Given the description of an element on the screen output the (x, y) to click on. 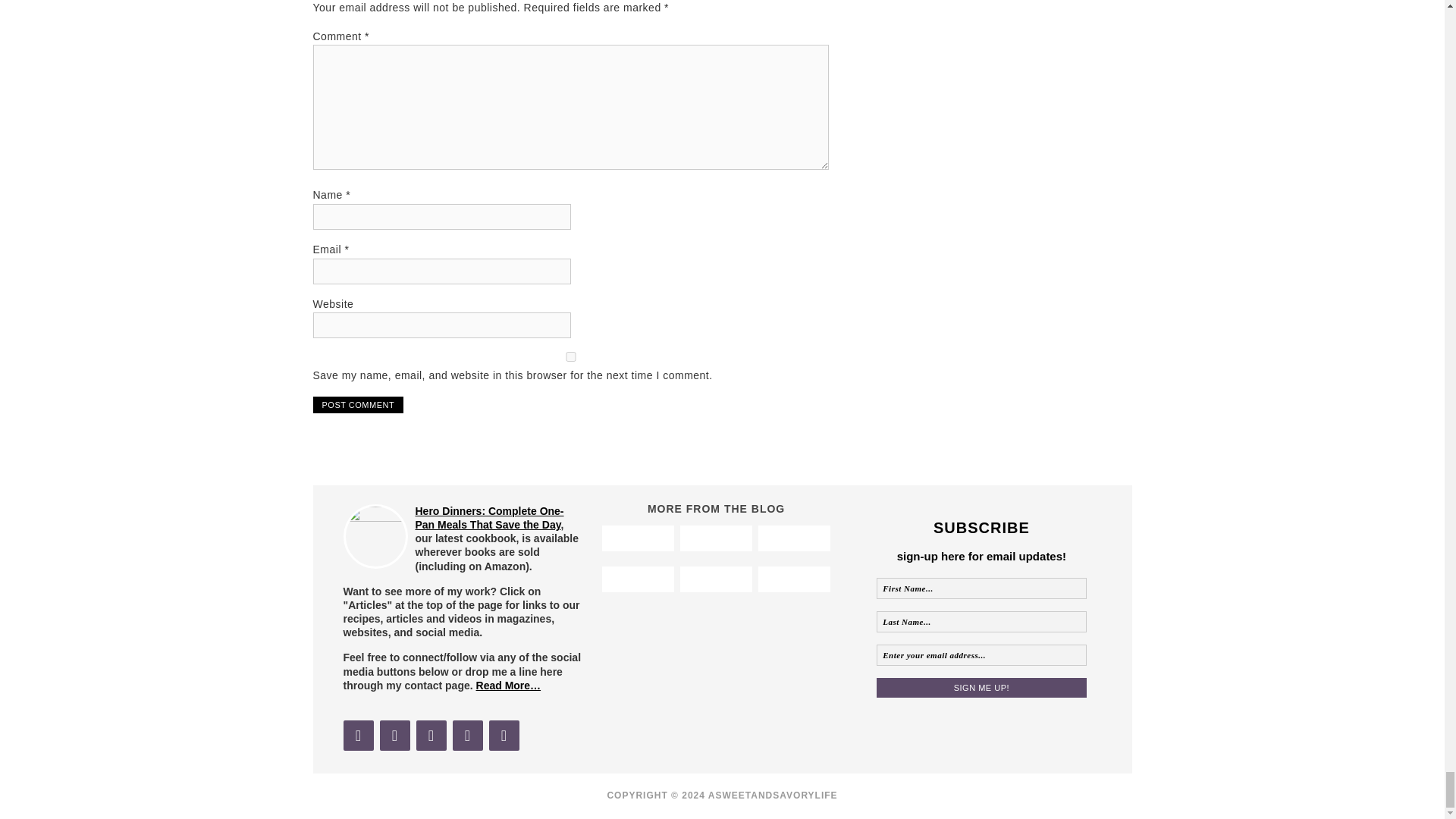
Sign me up! (981, 687)
yes (570, 356)
Post Comment (358, 404)
